Given the description of an element on the screen output the (x, y) to click on. 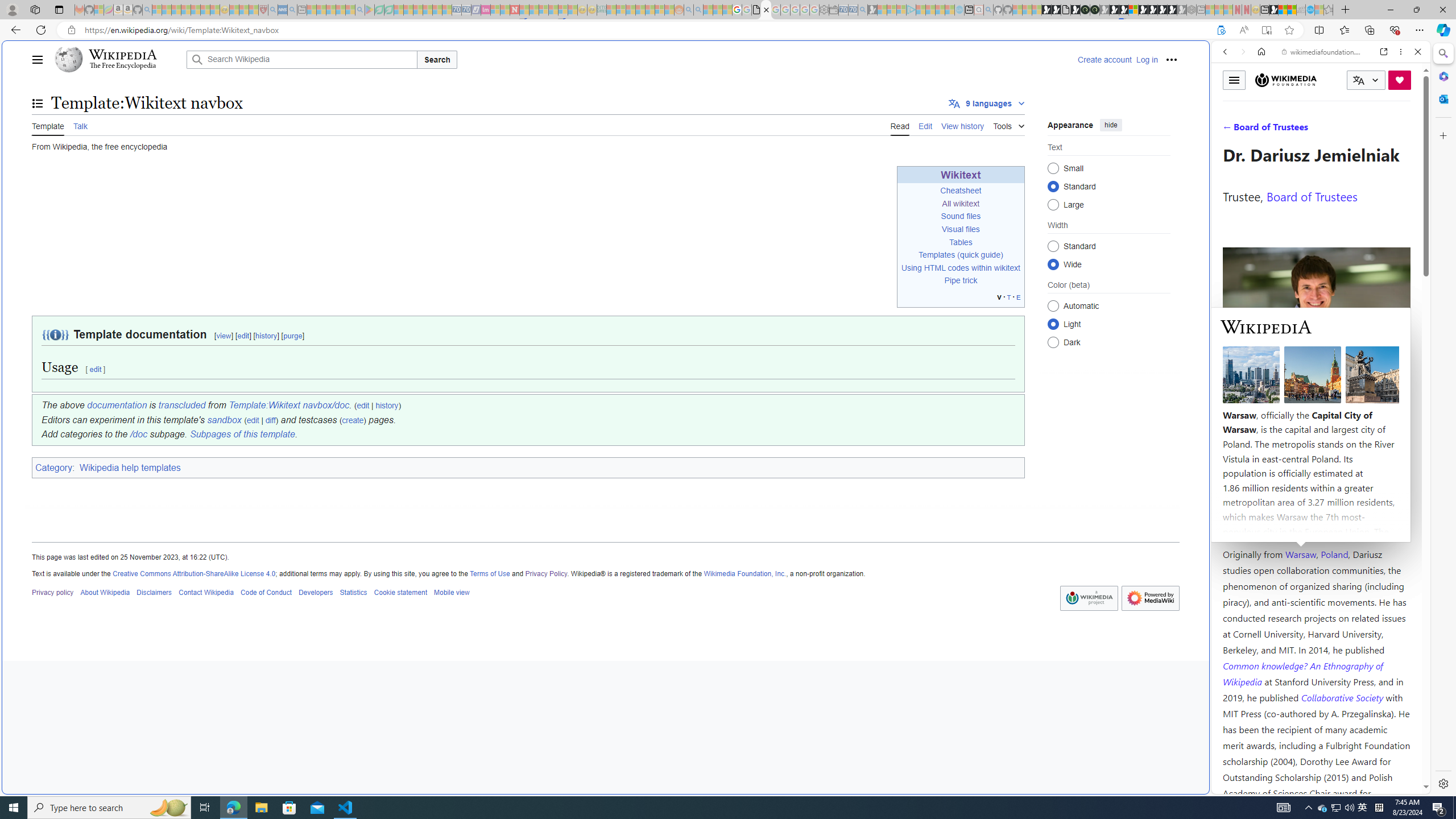
diff (269, 420)
Using HTML codes within wikitext (960, 267)
Kozminski University (1316, 486)
Log in (1146, 58)
